Given the description of an element on the screen output the (x, y) to click on. 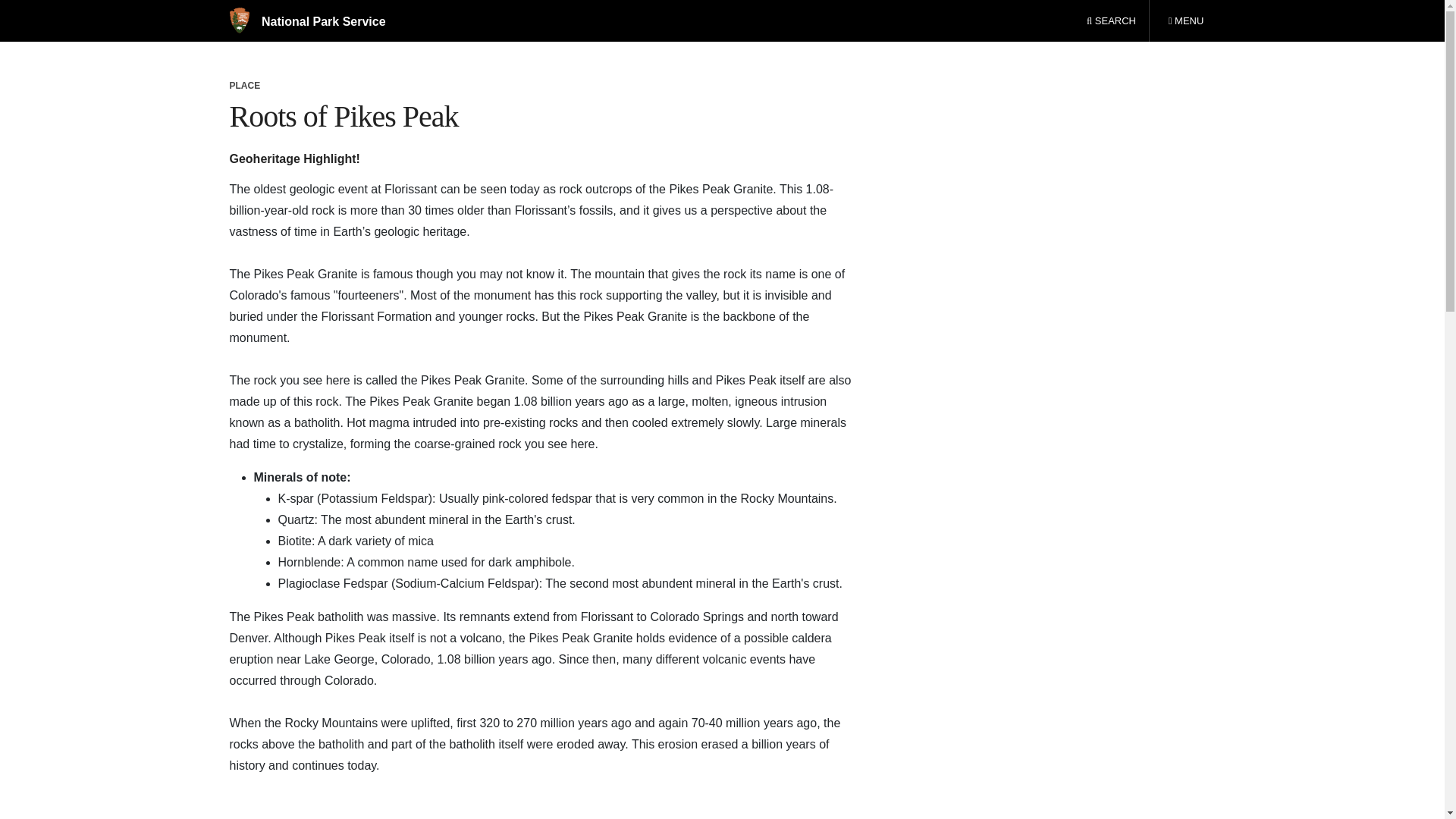
National Park Service (307, 20)
SEARCH (1185, 20)
